Given the description of an element on the screen output the (x, y) to click on. 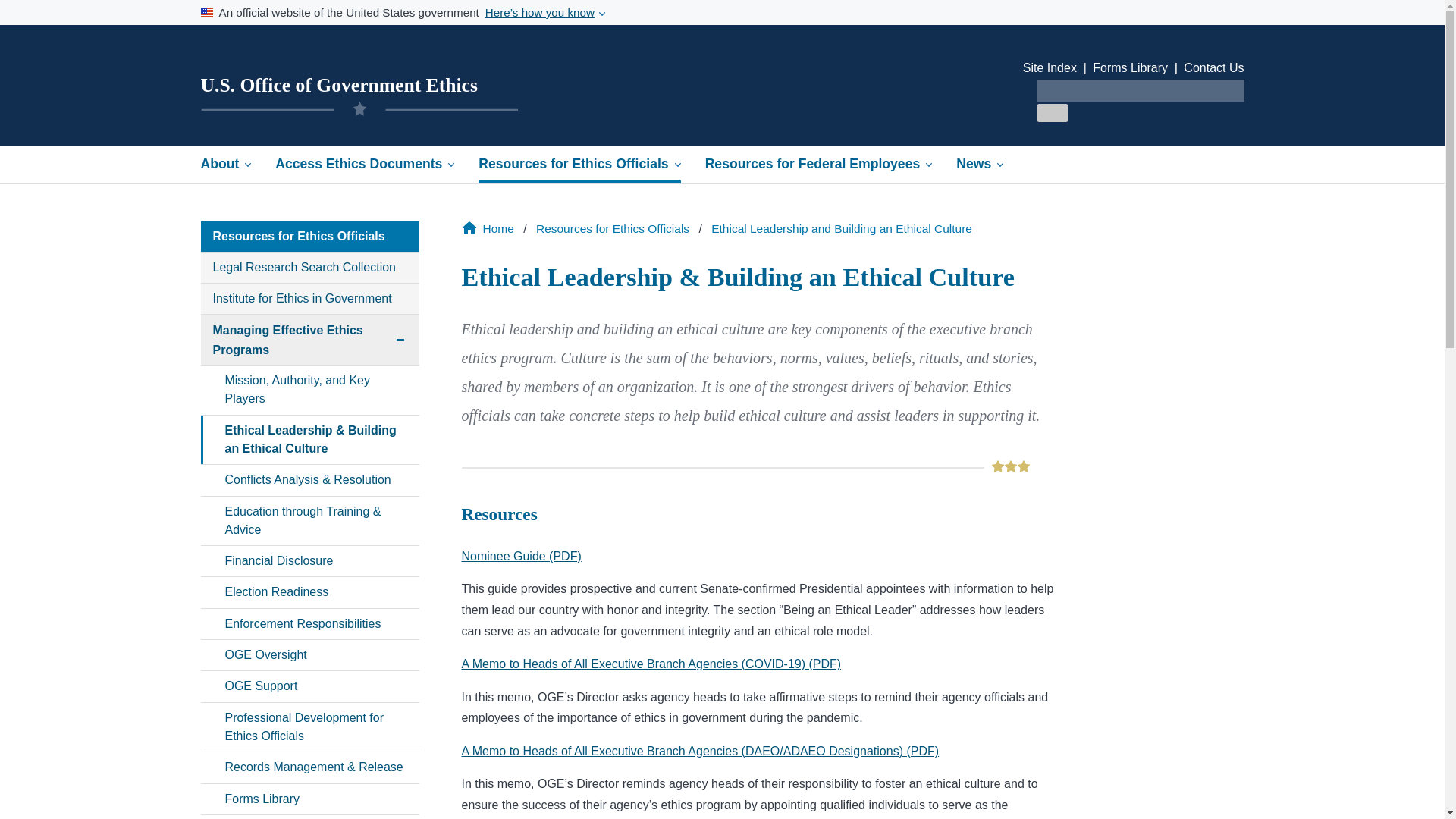
U.S. Office of Government Ethics (338, 85)
Access Ethics Documents (364, 163)
Forms Library (309, 798)
OGE Oversight (309, 654)
Enforcement Responsibilities (309, 624)
Professional Development for Ethics Officials (309, 727)
Site Index (1050, 67)
Financial Disclosure (309, 561)
OGE Support (309, 685)
Election Readiness (309, 592)
Home (309, 339)
Legal Expense Funds (497, 228)
Institute for Ethics in Government (309, 816)
Forms Library (309, 298)
